Given the description of an element on the screen output the (x, y) to click on. 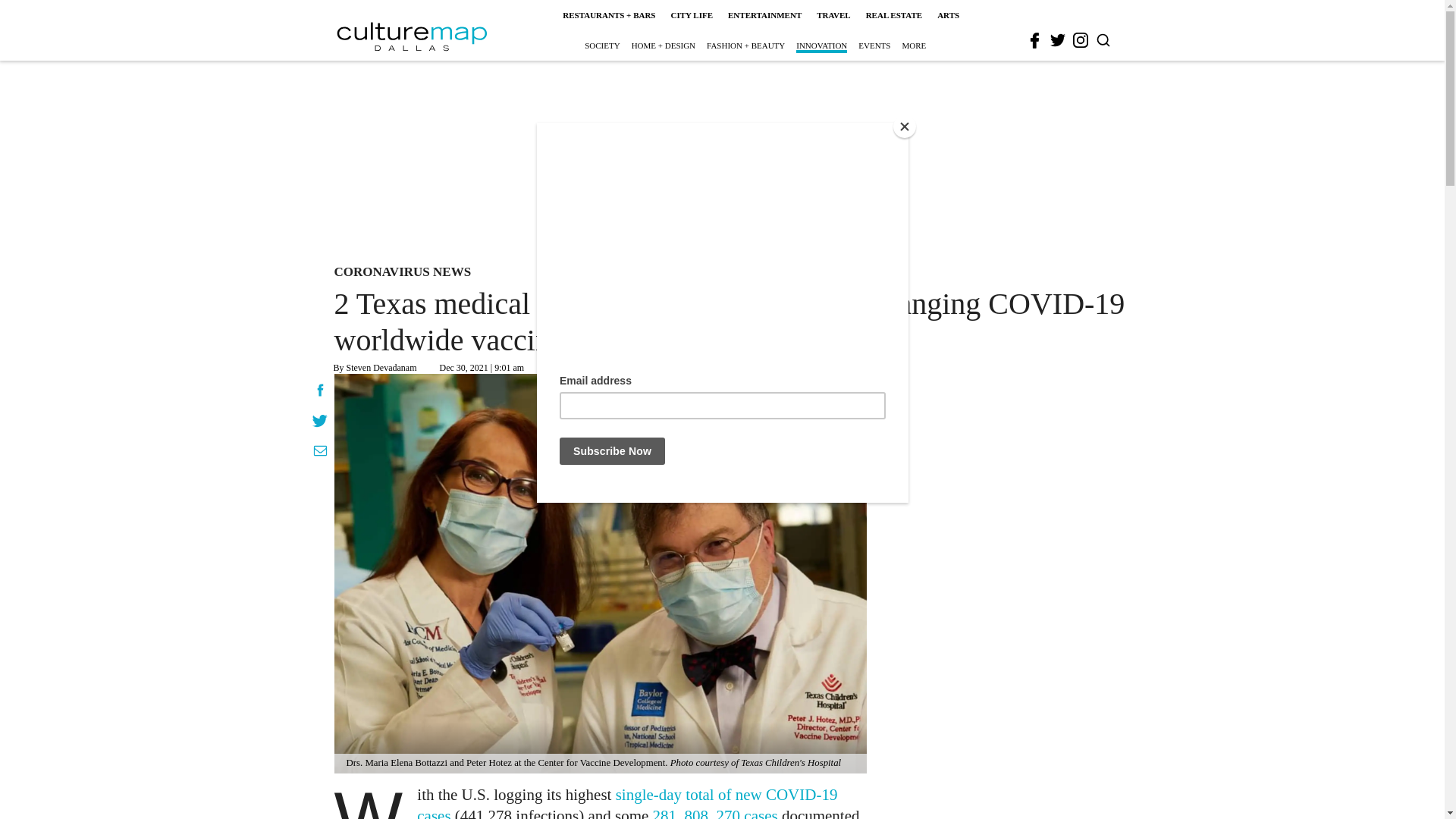
3rd party ad content (721, 160)
